Given the description of an element on the screen output the (x, y) to click on. 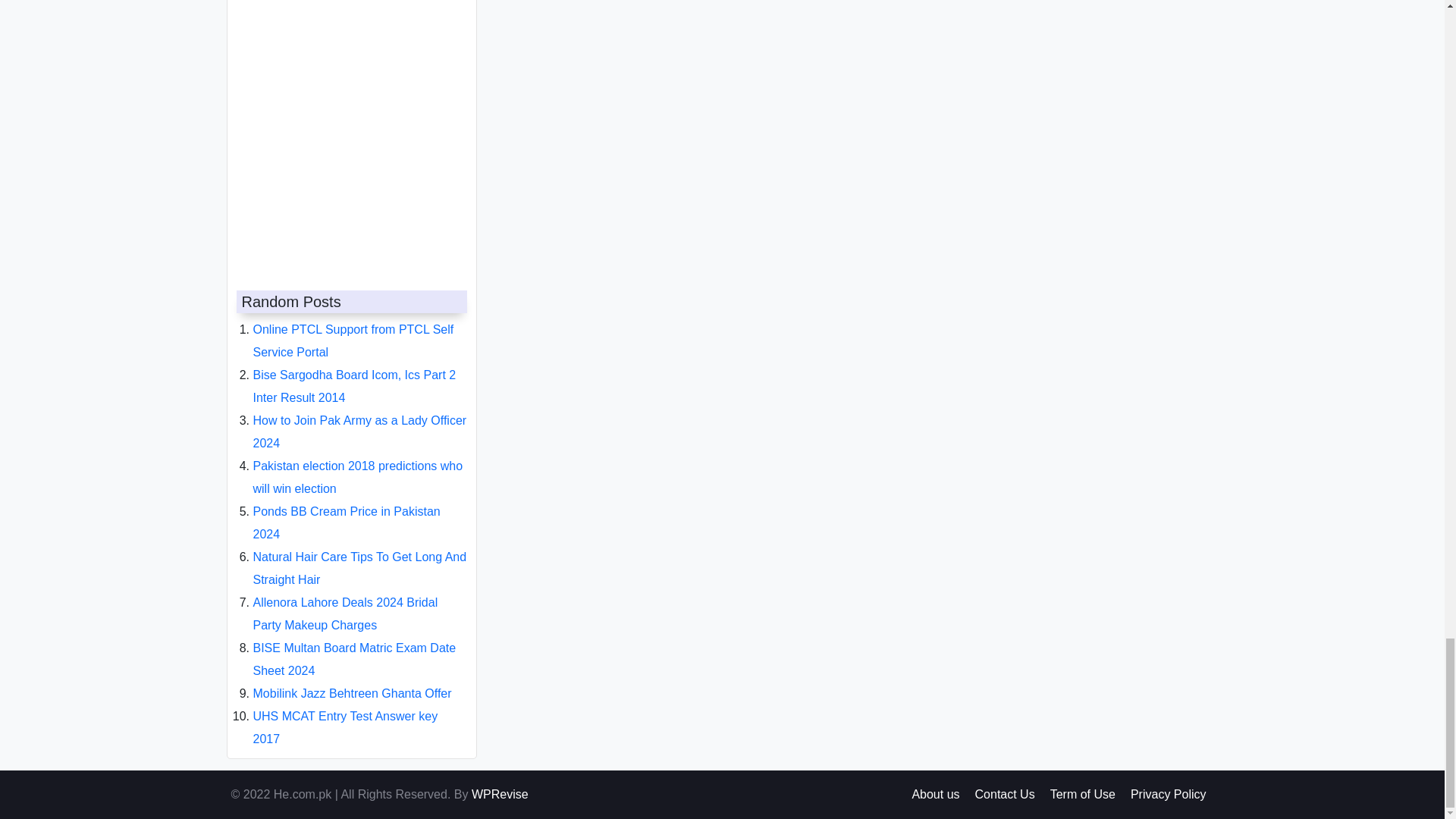
Ponds BB Cream Price in Pakistan 2024 (347, 510)
Allenora Lahore Deals 2024 Bridal Party Makeup Charges (345, 601)
Mobilink Jazz Behtreen Ghanta Offer (352, 680)
WPRevise (499, 793)
UHS MCAT Entry Test Answer key 2017 (345, 715)
Bise Sargodha Board Icom, Ics Part 2 Inter Result 2014 (355, 374)
How to Join Pak Army as a Lady Officer 2024 (360, 419)
Natural Hair Care Tips To Get Long And Straight Hair (360, 556)
BISE Multan Board Matric Exam Date Sheet 2024 (355, 647)
Online PTCL Support from PTCL Self Service Portal (353, 328)
